Given the description of an element on the screen output the (x, y) to click on. 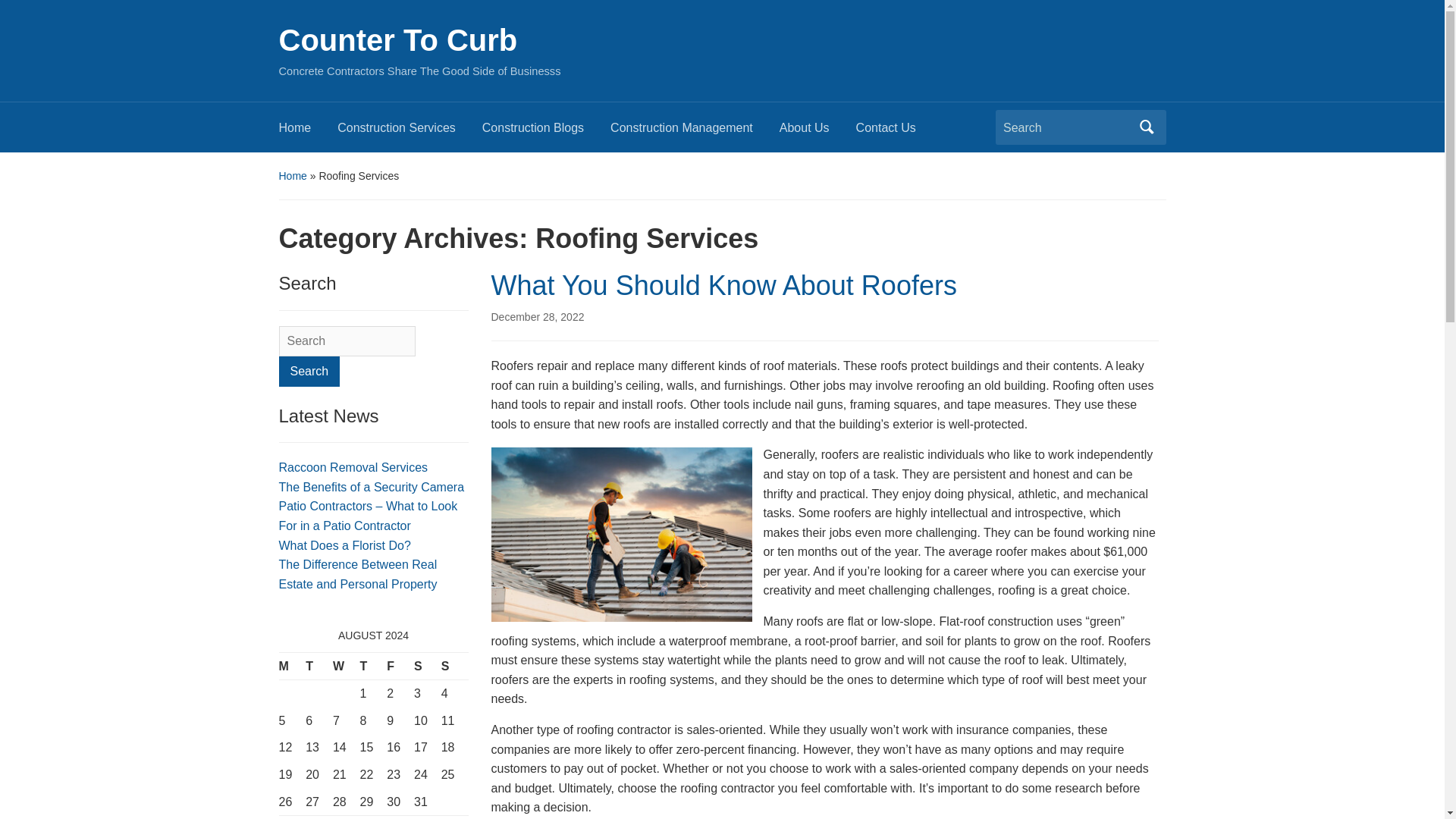
Saturday (427, 665)
Friday (400, 665)
The Difference Between Real Estate and Personal Property (358, 573)
Search (309, 371)
Construction Services (409, 131)
Home (293, 175)
Wednesday (346, 665)
Contact Us (899, 131)
Counter To Curb (398, 39)
